Given the description of an element on the screen output the (x, y) to click on. 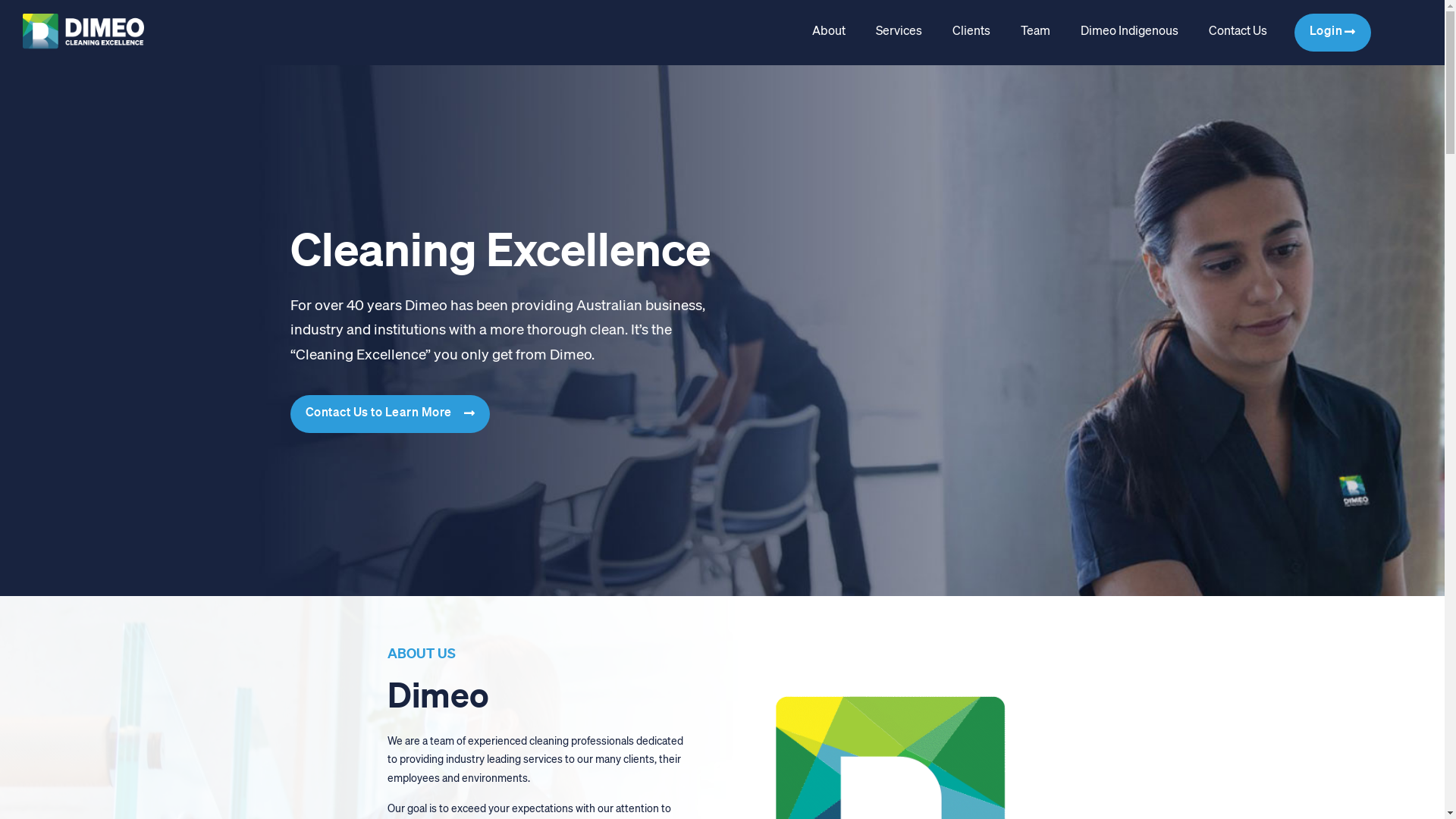
Dimeo Indigenous Element type: text (1128, 32)
Contact Us to Learn More Element type: text (389, 414)
Contact Us Element type: text (1237, 32)
About Element type: text (827, 32)
Team Element type: text (1035, 32)
Clients Element type: text (971, 32)
Services Element type: text (897, 32)
Login Element type: text (1331, 32)
